Given the description of an element on the screen output the (x, y) to click on. 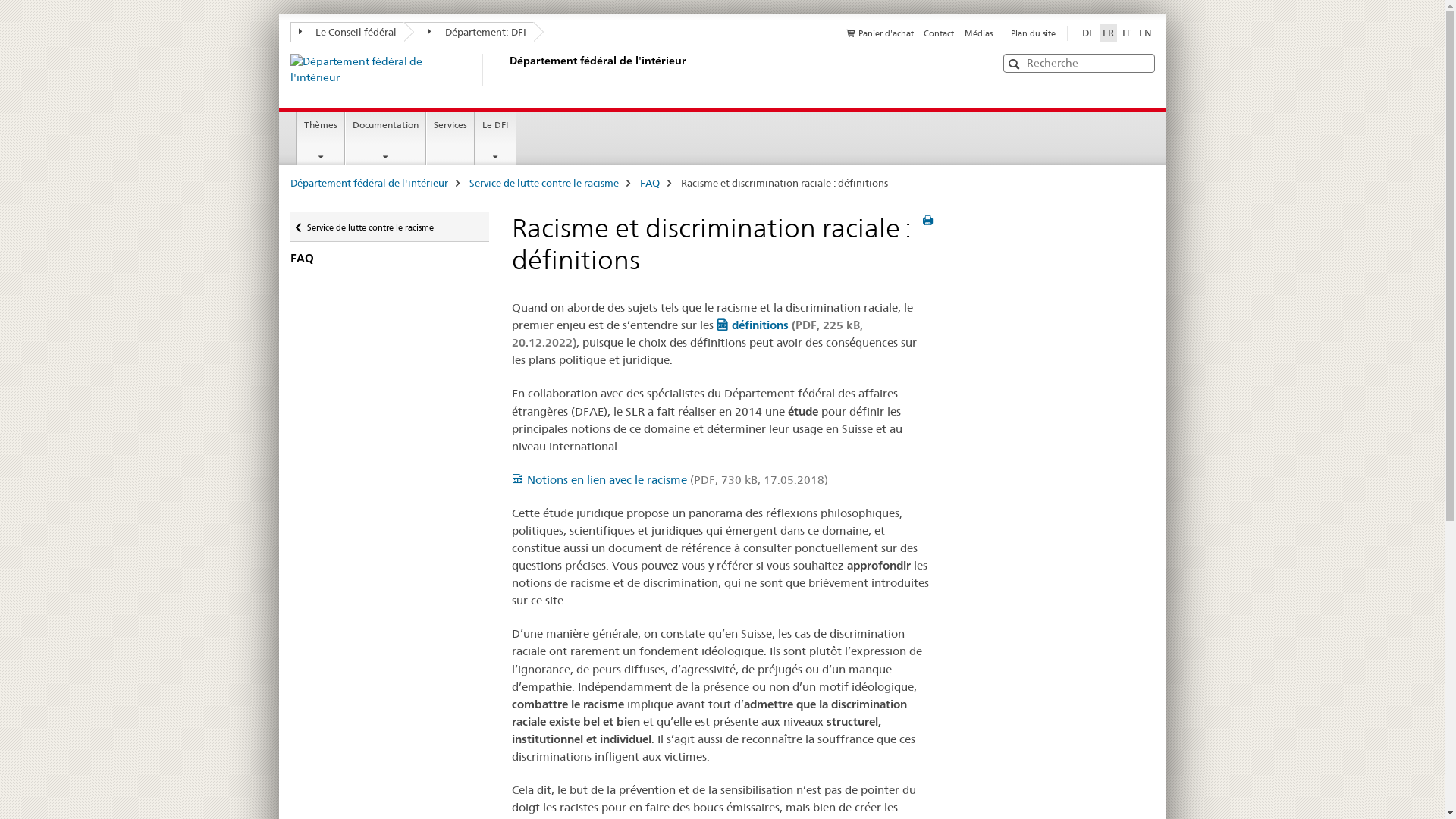
Imprimer cette page Element type: hover (927, 220)
Contact Element type: text (938, 33)
Recherche Element type: text (1015, 63)
Plan du site Element type: text (1032, 33)
Service de lutte contre le racisme Element type: text (543, 182)
FR Element type: text (1108, 32)
Documentation Element type: text (385, 138)
DE Element type: text (1087, 32)
IT Element type: text (1126, 32)
Services Element type: text (449, 138)
Panier d'achat Element type: text (879, 33)
Notions en lien avec le racisme (PDF, 730 kB, 17.05.2018) Element type: text (669, 479)
EN Element type: text (1144, 32)
FAQ Element type: text (389, 258)
Le DFI Element type: text (495, 138)
FAQ Element type: text (649, 182)
